Given the description of an element on the screen output the (x, y) to click on. 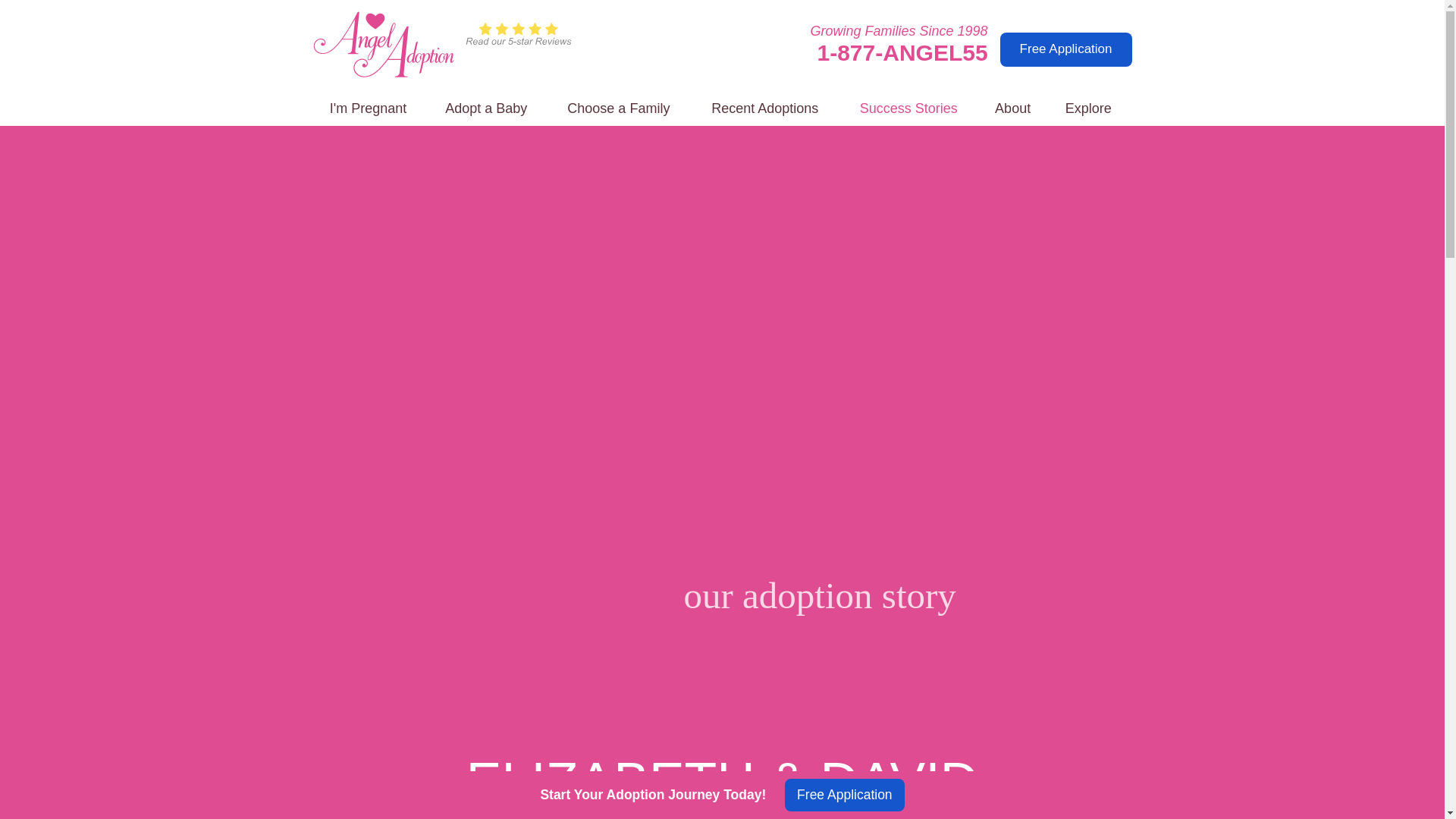
1-877-ANGEL55 (902, 52)
I'm Pregnant (368, 109)
Free Application (1066, 49)
Adopt a Baby (486, 109)
Choose a Family (618, 109)
Waiting Families (618, 109)
